Given the description of an element on the screen output the (x, y) to click on. 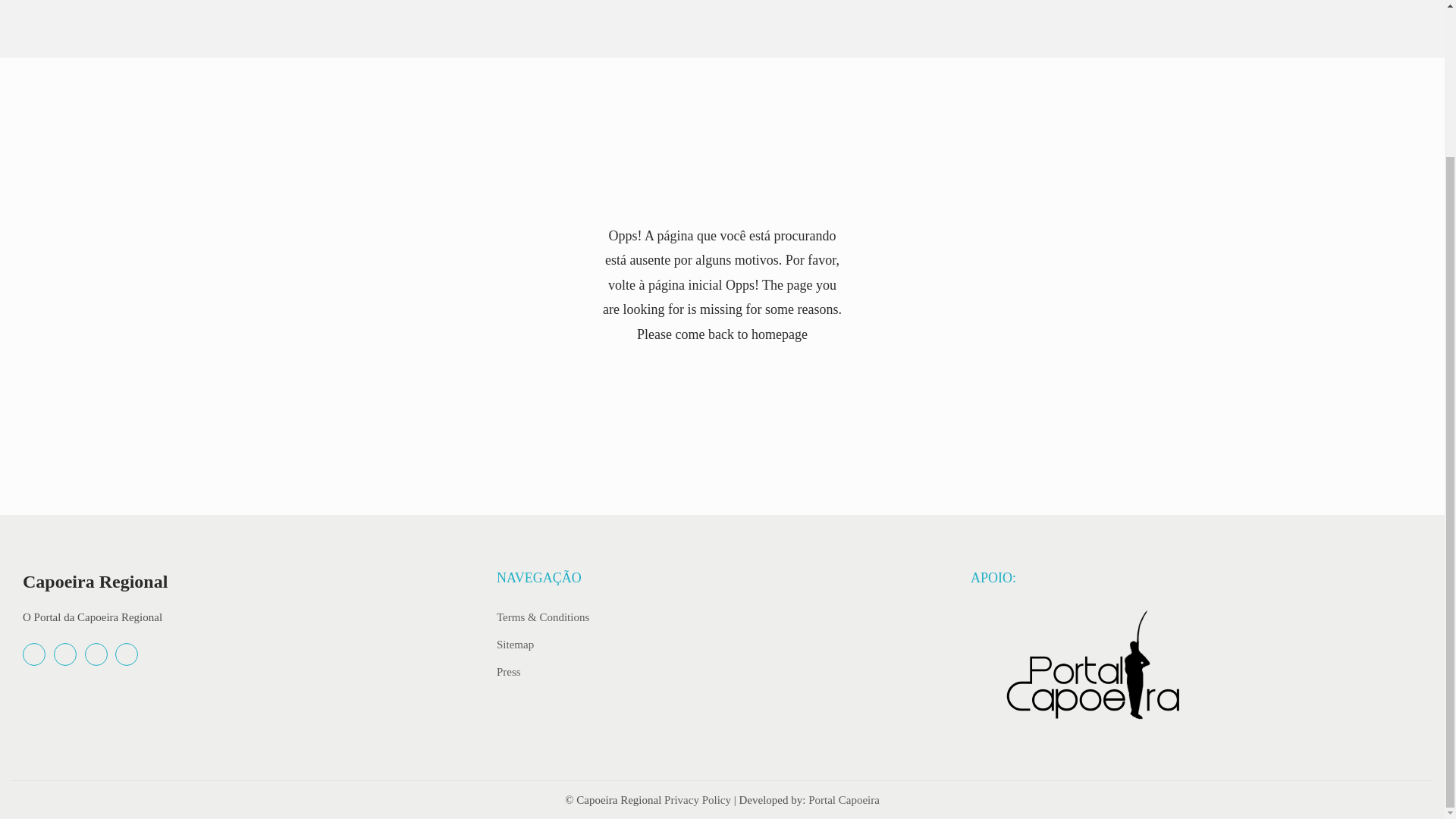
Sitemap (515, 644)
Privacy Policy (696, 799)
Portal Capoeira (843, 799)
Press (508, 671)
